Given the description of an element on the screen output the (x, y) to click on. 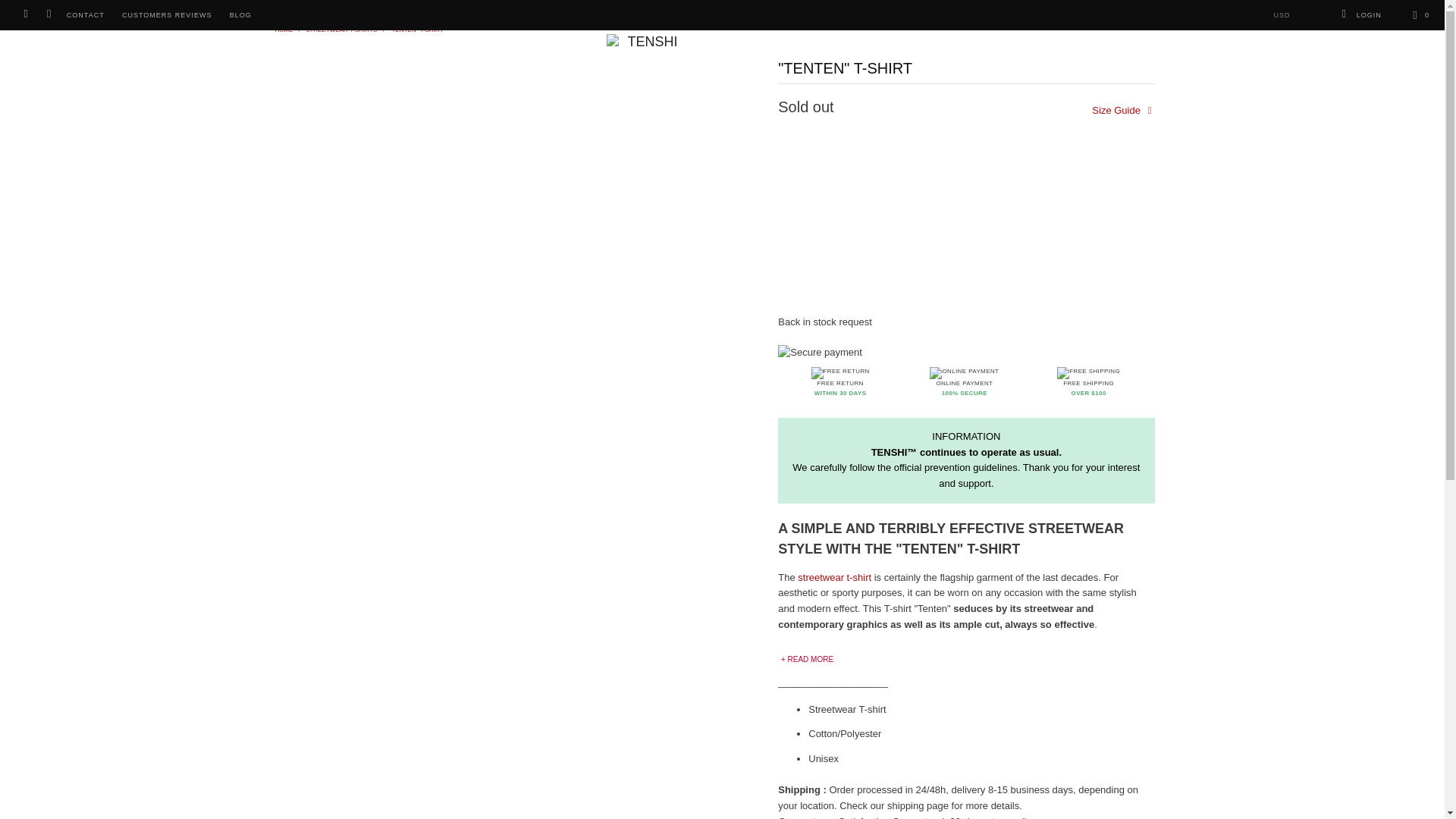
CONTACT (85, 15)
TENSHI (283, 29)
TENSHI on Pinterest (25, 14)
My Account  (1361, 15)
TENSHI on Instagram (48, 14)
streetwear t-shirt (833, 577)
TENSHI (722, 42)
Streetwear T-shirts (341, 29)
CUSTOMERS REVIEWS (166, 15)
